Given the description of an element on the screen output the (x, y) to click on. 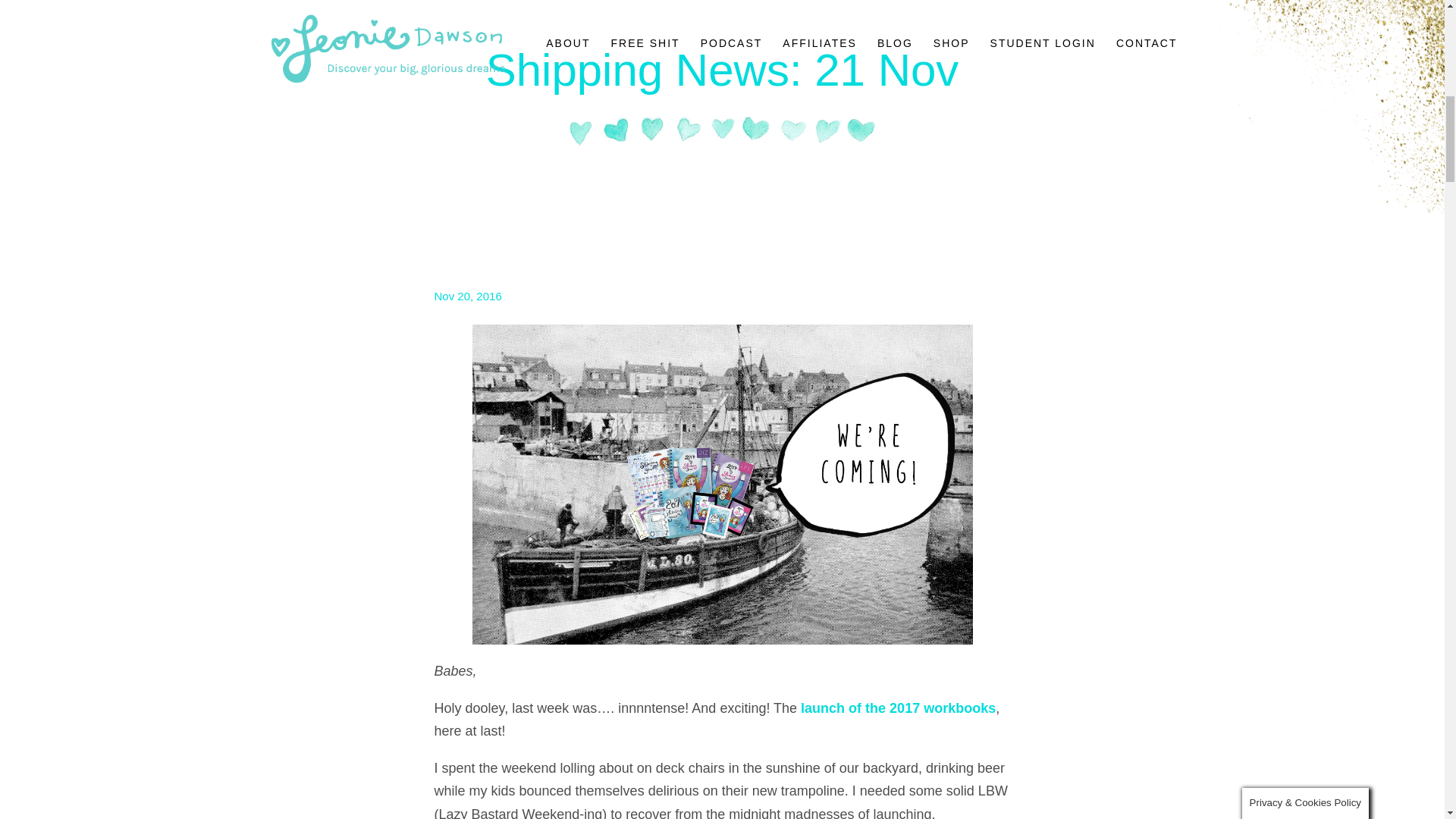
launch of the 2017 workbooks (897, 708)
